Given the description of an element on the screen output the (x, y) to click on. 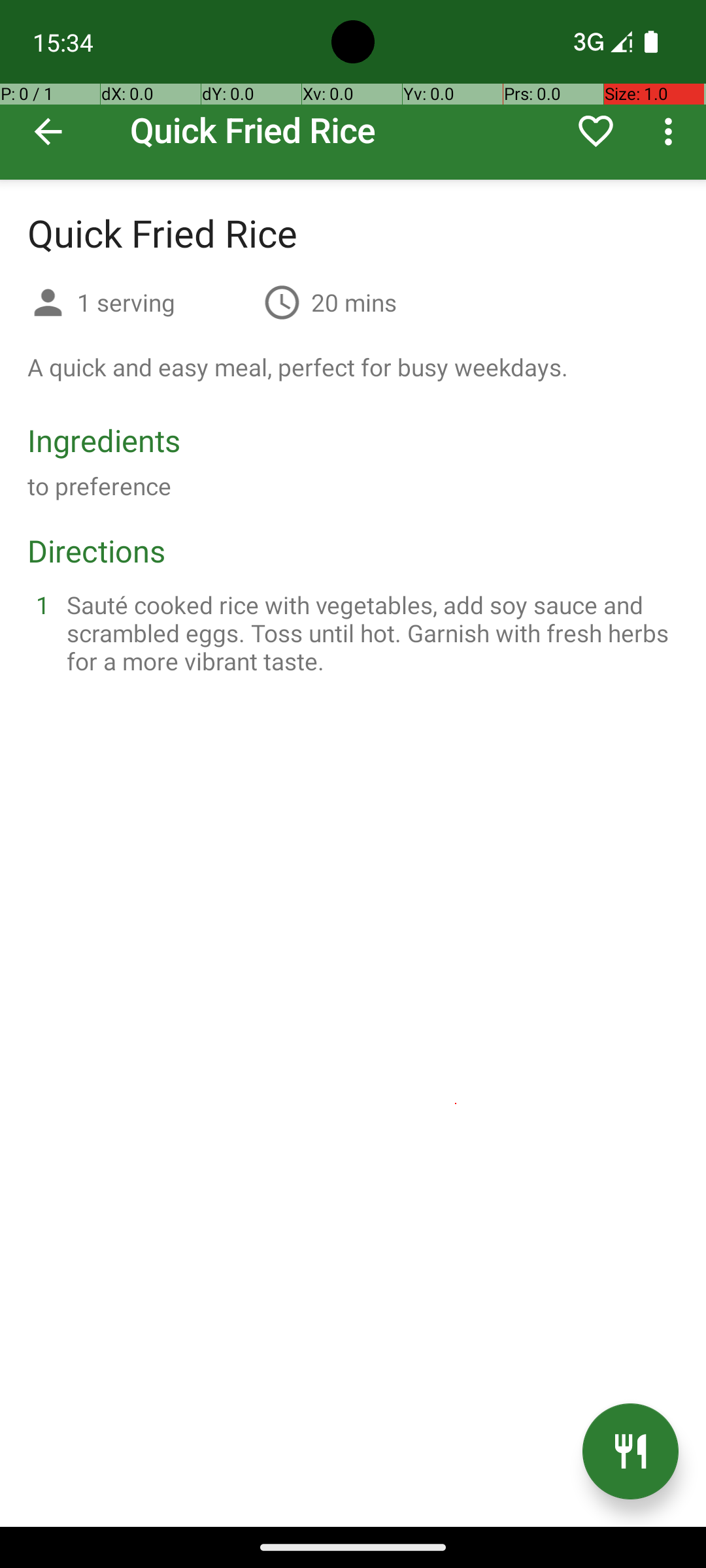
Quick Fried Rice Element type: android.widget.FrameLayout (353, 89)
20 mins Element type: android.widget.TextView (353, 301)
to preference Element type: android.widget.TextView (99, 485)
Sauté cooked rice with vegetables, add soy sauce and scrambled eggs. Toss until hot. Garnish with fresh herbs for a more vibrant taste. Element type: android.widget.TextView (368, 632)
